Given the description of an element on the screen output the (x, y) to click on. 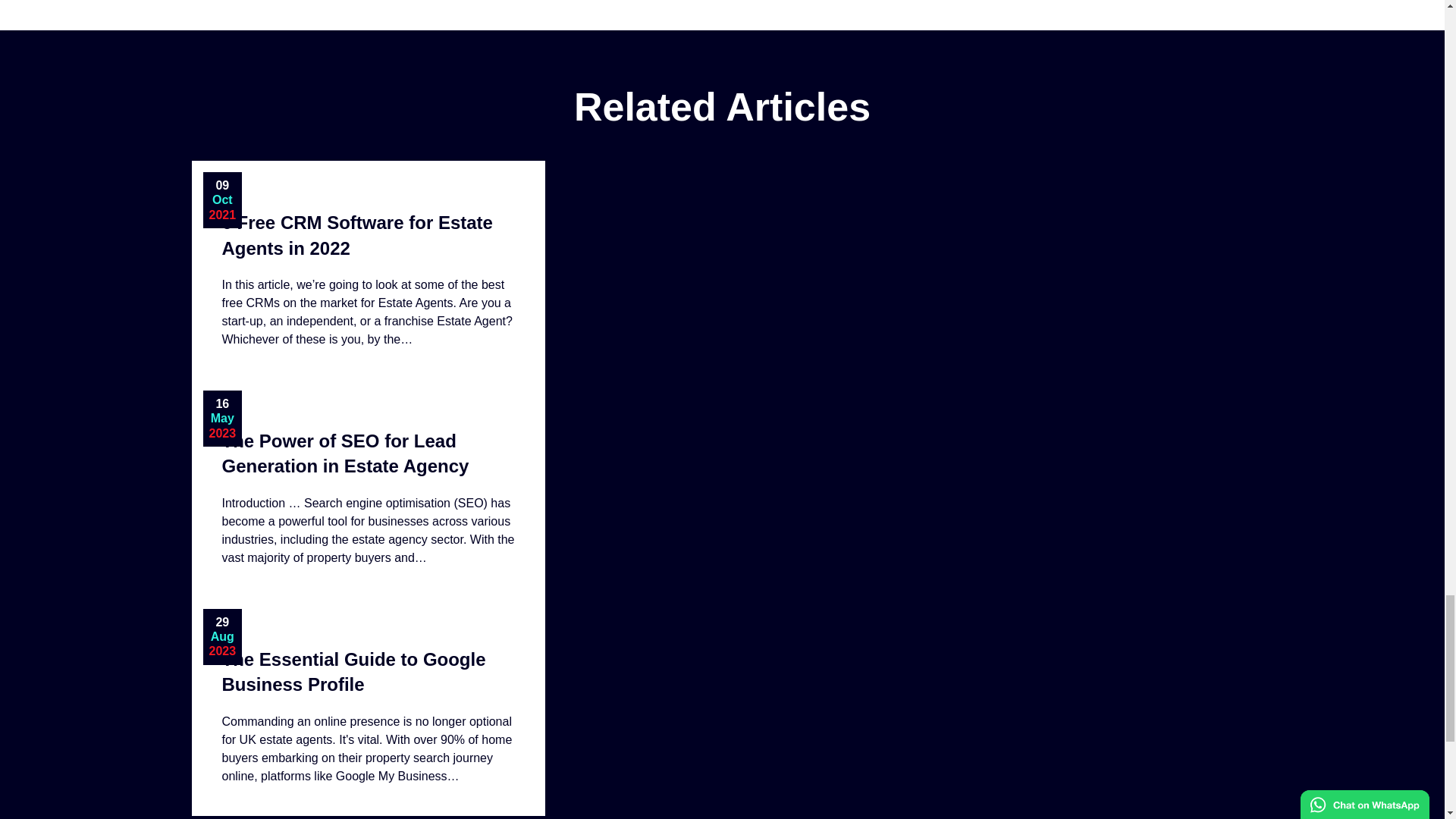
6 Free CRM Software for Estate Agents in 2022 (367, 269)
The Power of SEO for Lead Generation in Estate Agency (367, 488)
The Essential Guide to Google Business Profile (367, 706)
